Given the description of an element on the screen output the (x, y) to click on. 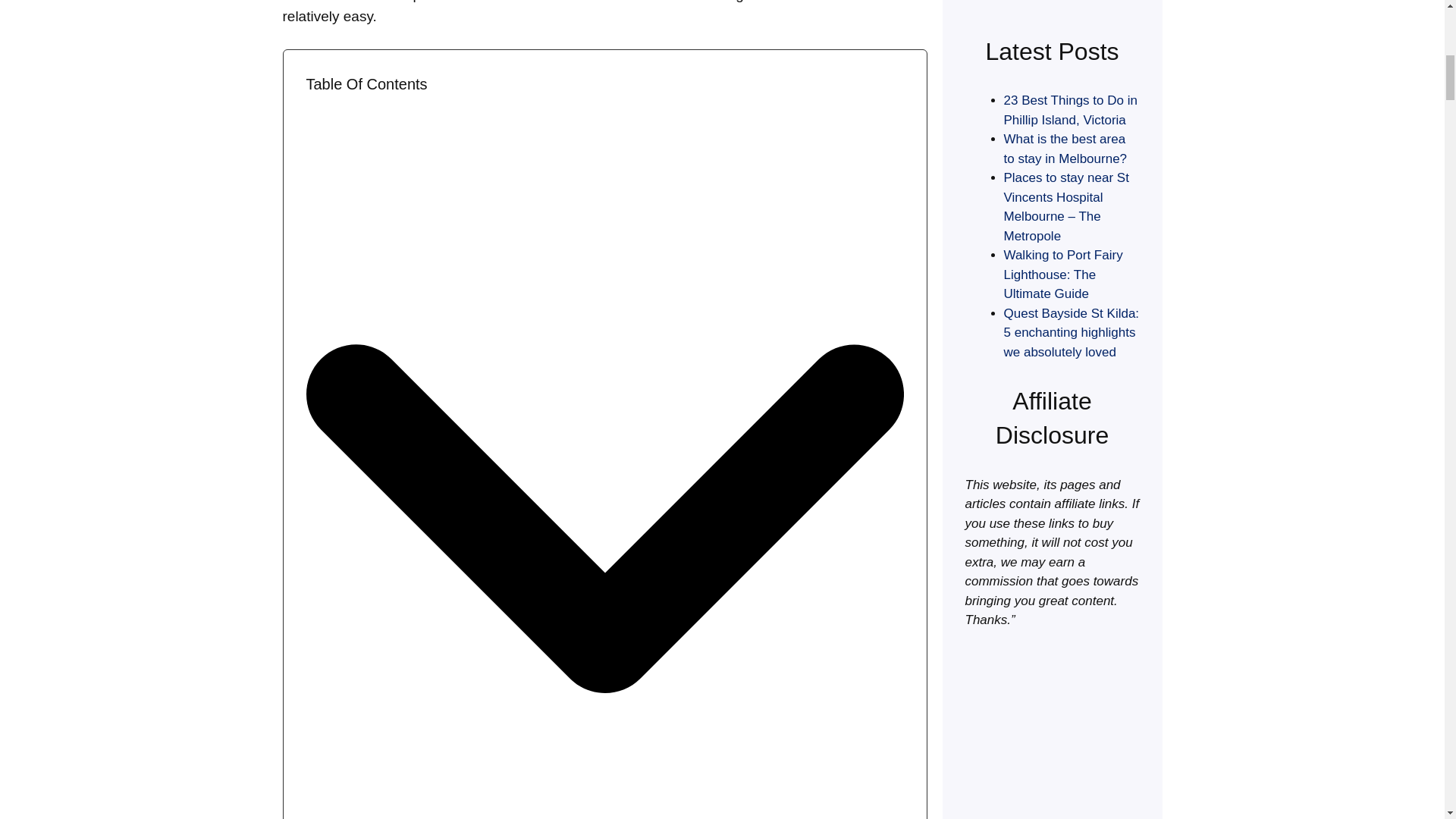
Scroll back to top (1406, 720)
